Given the description of an element on the screen output the (x, y) to click on. 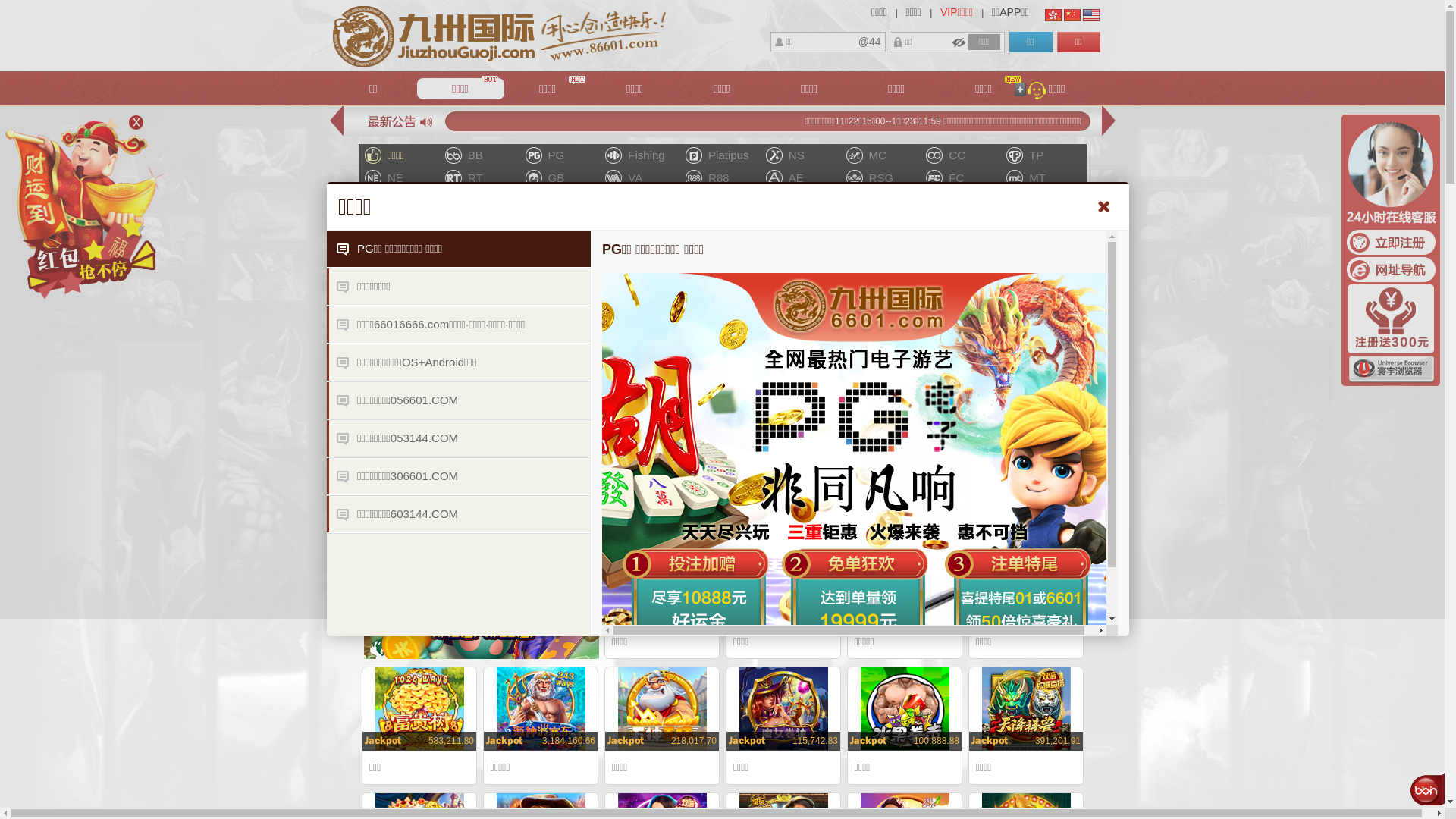
English Element type: hover (1090, 15)
